Given the description of an element on the screen output the (x, y) to click on. 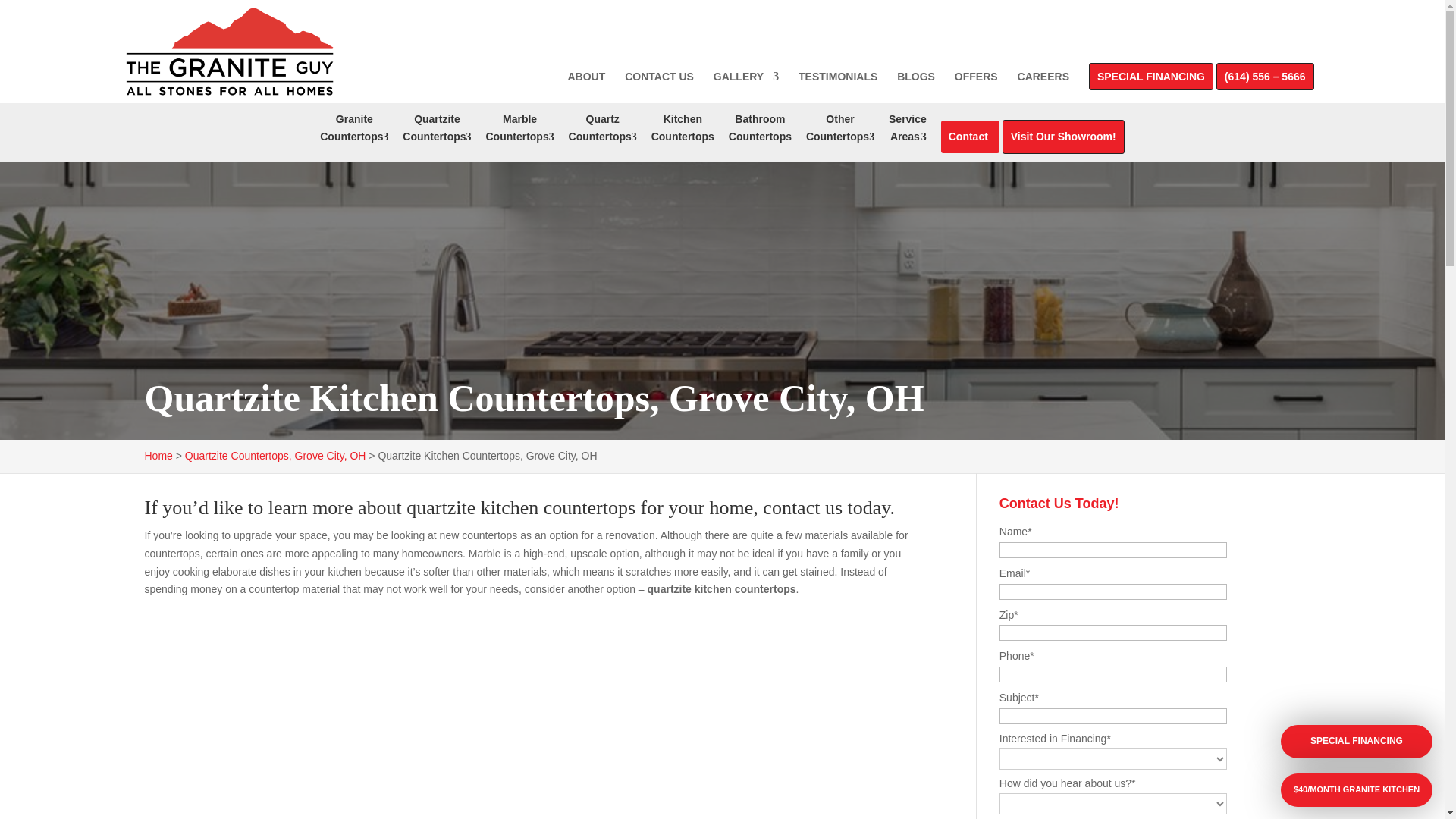
SPECIAL FINANCING (760, 131)
Go to Quartzite Countertops, Grove City, OH. (603, 131)
TESTIMONIALS (518, 131)
BLOGS (354, 131)
OFFERS (1151, 80)
